Given the description of an element on the screen output the (x, y) to click on. 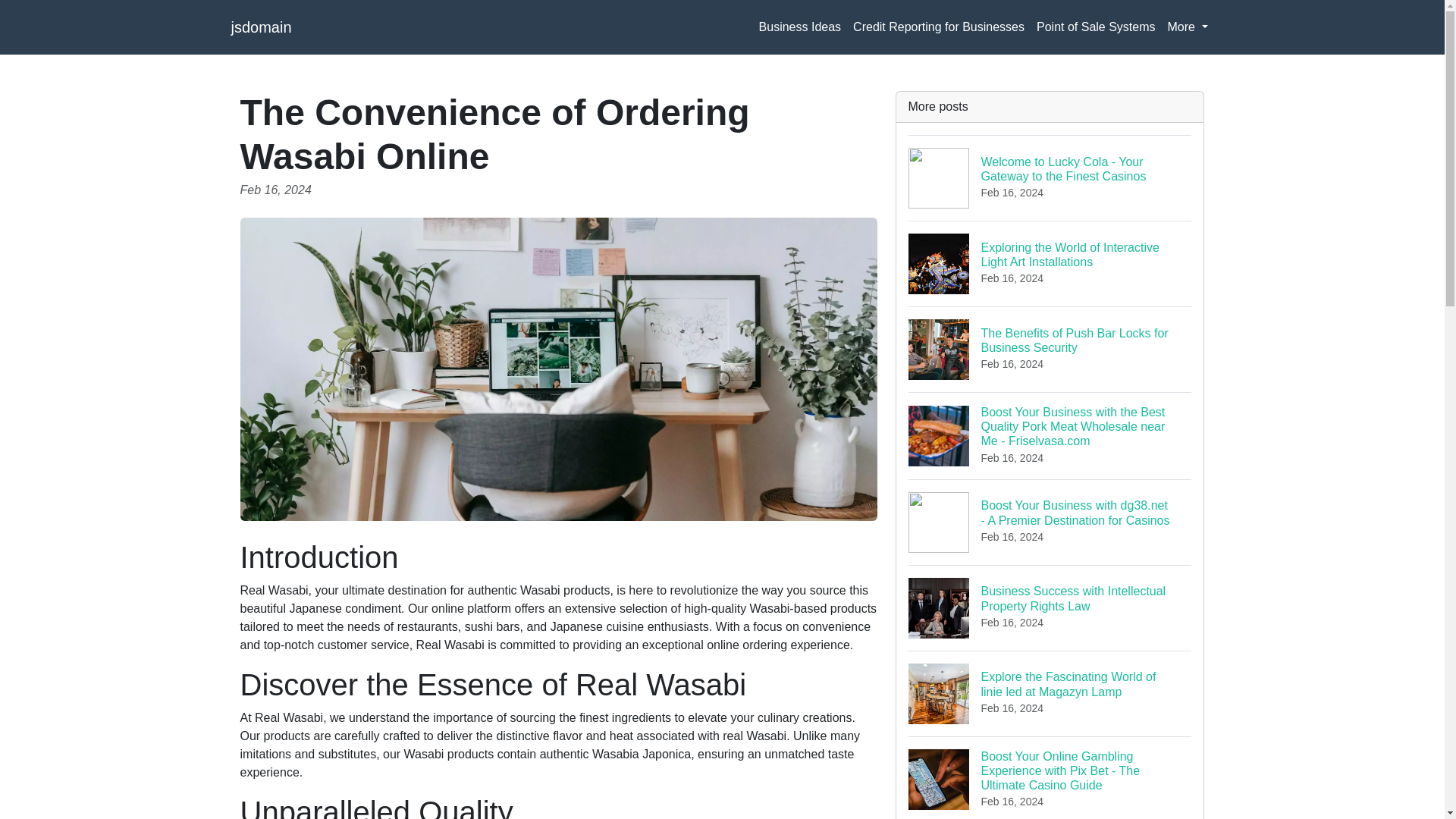
Credit Reporting for Businesses (938, 27)
Point of Sale Systems (1095, 27)
jsdomain (260, 27)
More (1187, 27)
Business Ideas (799, 27)
